Given the description of an element on the screen output the (x, y) to click on. 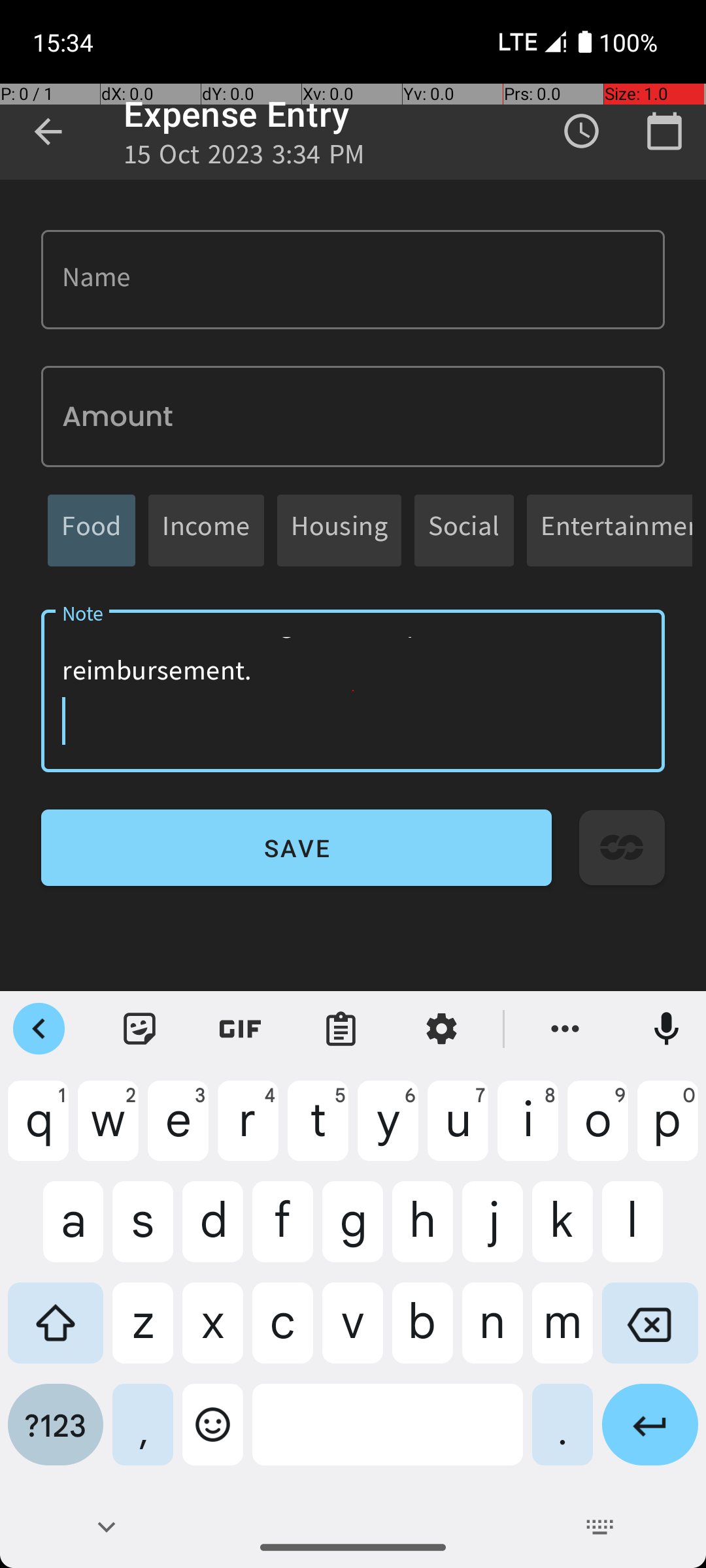
Remember to bring the receipts for reimbursement.
 Element type: android.widget.EditText (352, 690)
